Given the description of an element on the screen output the (x, y) to click on. 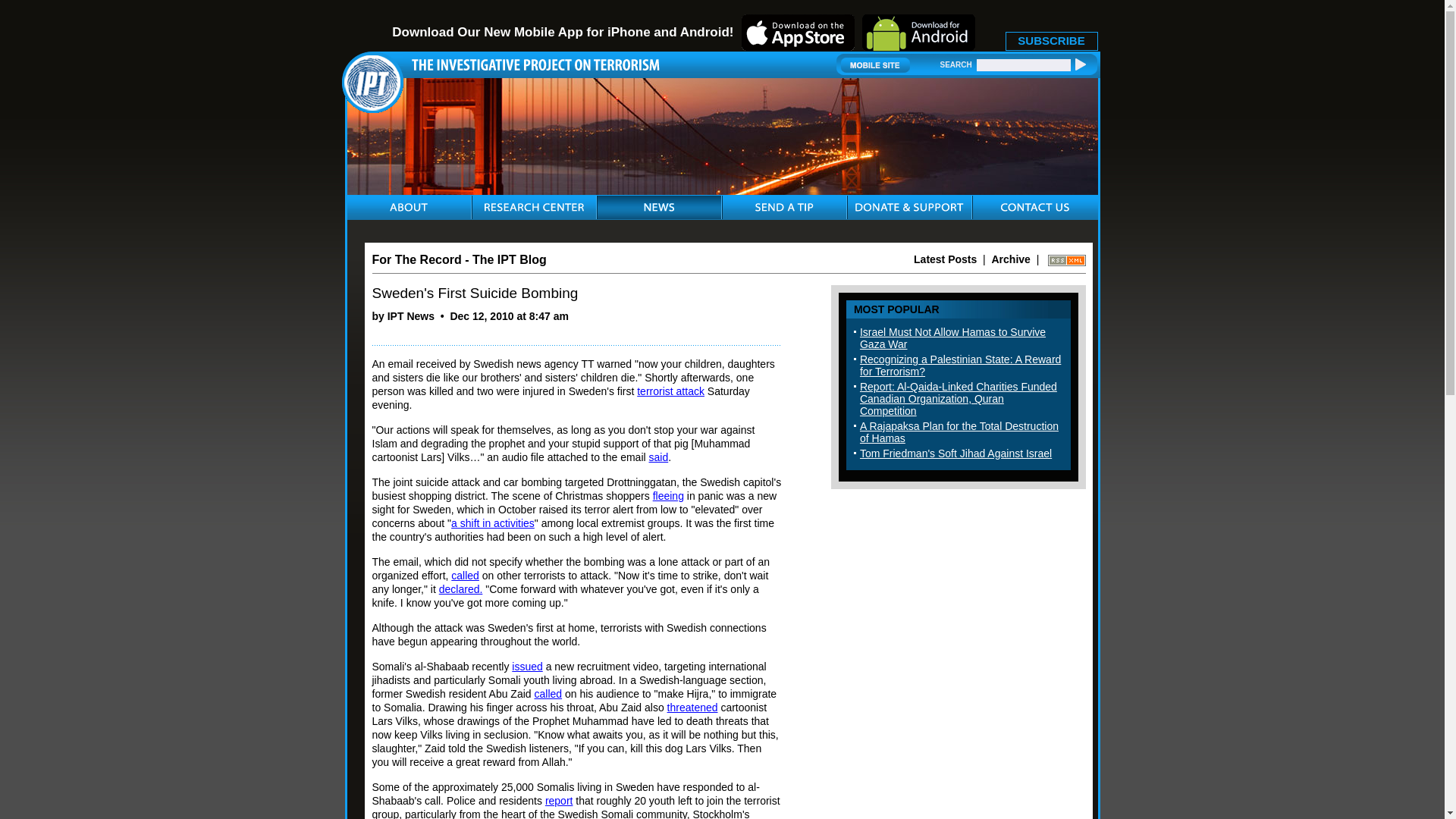
issued (526, 666)
RESEARCH CENTER (533, 207)
declared. (461, 589)
SEND A TIP (784, 207)
report (558, 800)
Latest Posts (945, 259)
called (465, 575)
terrorist attack (670, 390)
a shift in activities (492, 522)
ABOUT (409, 207)
